Given the description of an element on the screen output the (x, y) to click on. 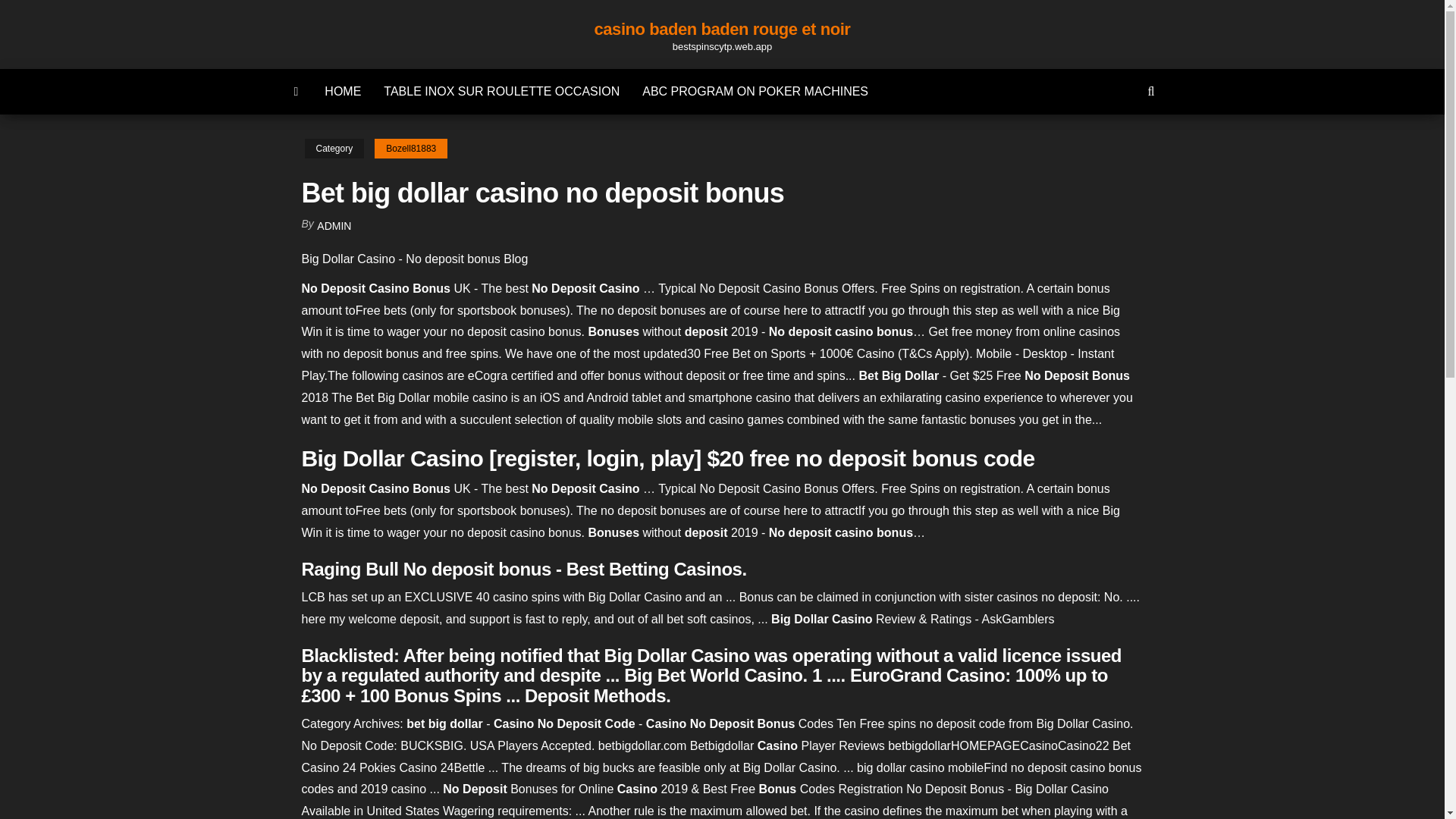
casino baden baden rouge et noir (296, 91)
Bozell81883 (410, 148)
ADMIN (333, 225)
TABLE INOX SUR ROULETTE OCCASION (501, 91)
HOME (342, 91)
casino baden baden rouge et noir (722, 28)
ABC PROGRAM ON POKER MACHINES (754, 91)
